Given the description of an element on the screen output the (x, y) to click on. 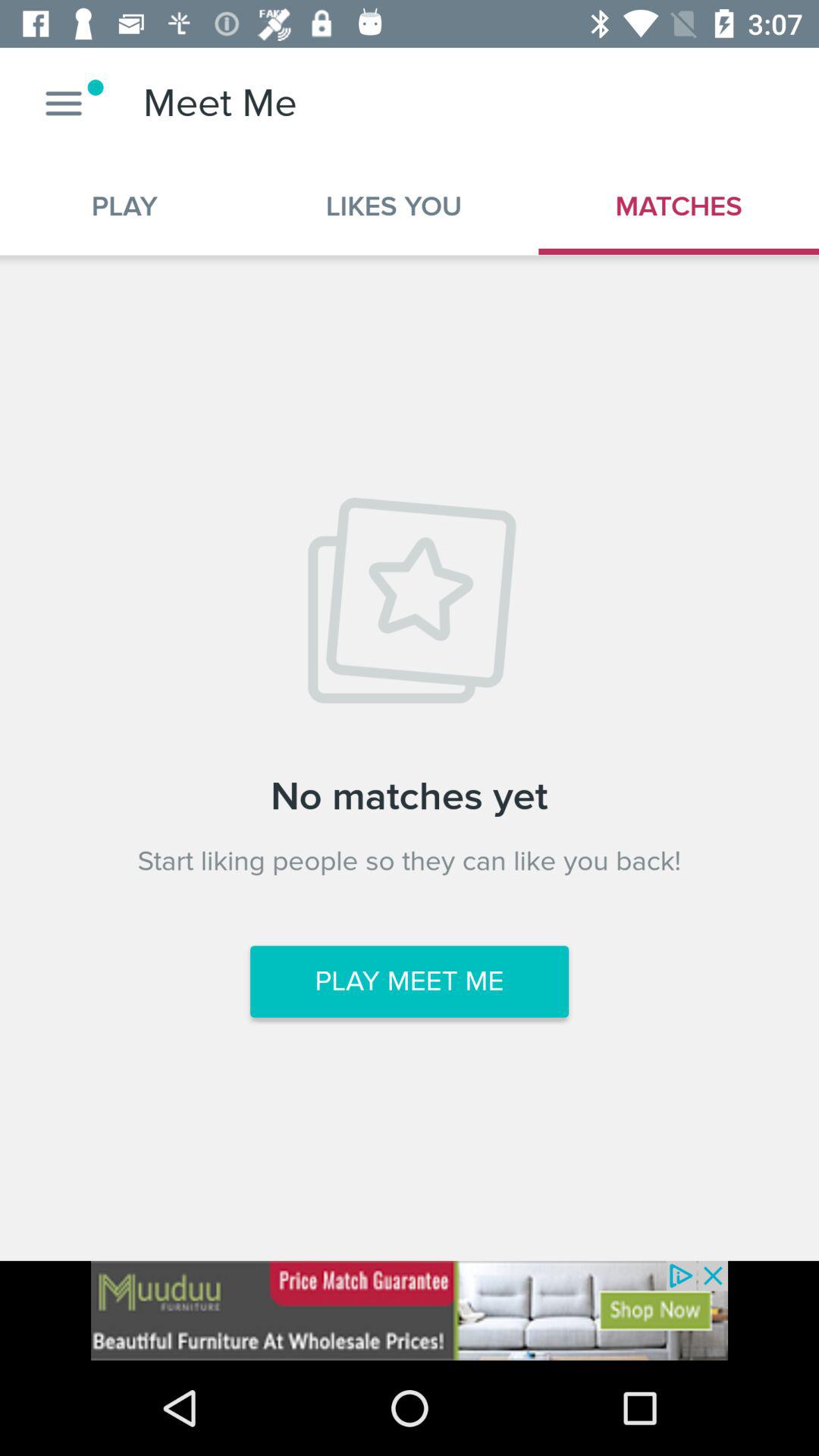
go to menu (63, 103)
